Given the description of an element on the screen output the (x, y) to click on. 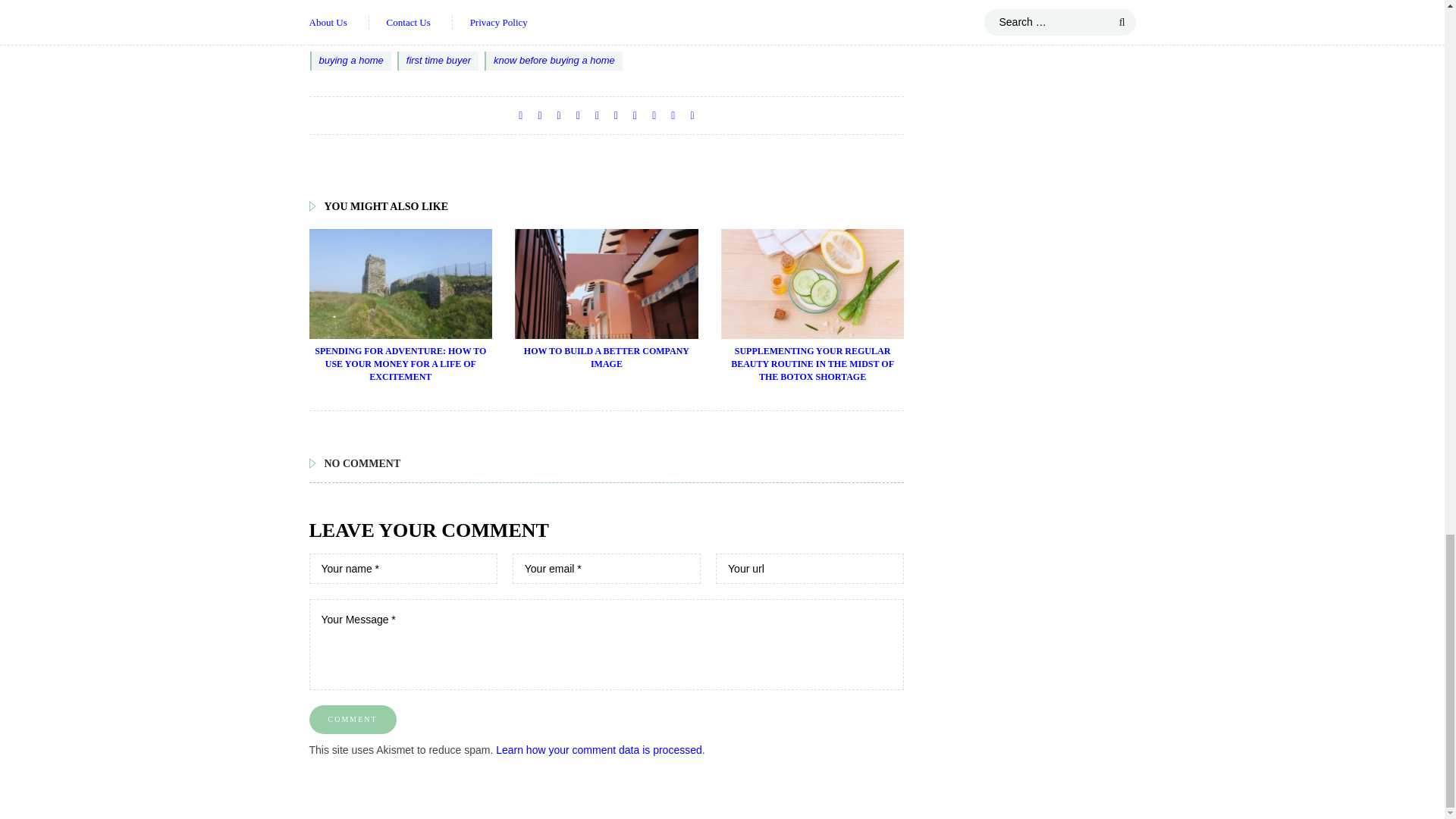
Comment (352, 719)
know before buying a home (553, 60)
Share to Digg (578, 115)
Follow (338, 7)
Email, RSS (323, 8)
Learn how your comment data is processed (598, 749)
first time buyer (438, 60)
Share to Reddit (597, 115)
